Given the description of an element on the screen output the (x, y) to click on. 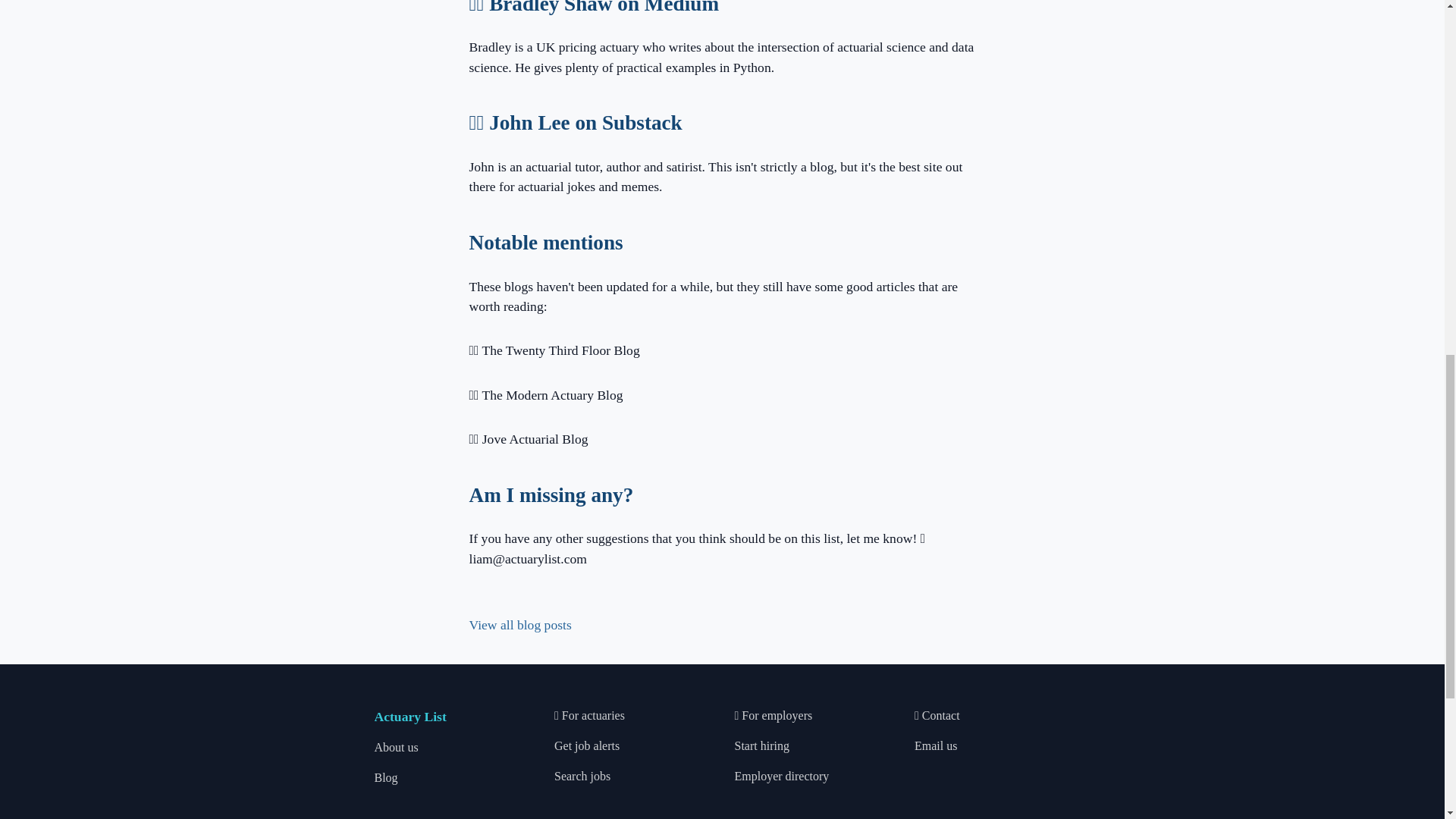
Email us (935, 746)
Get job alerts (587, 746)
Actuary List (410, 716)
View all blog posts (519, 624)
Employer directory (780, 776)
Start hiring (761, 746)
About us (396, 747)
Search jobs (582, 776)
